Given the description of an element on the screen output the (x, y) to click on. 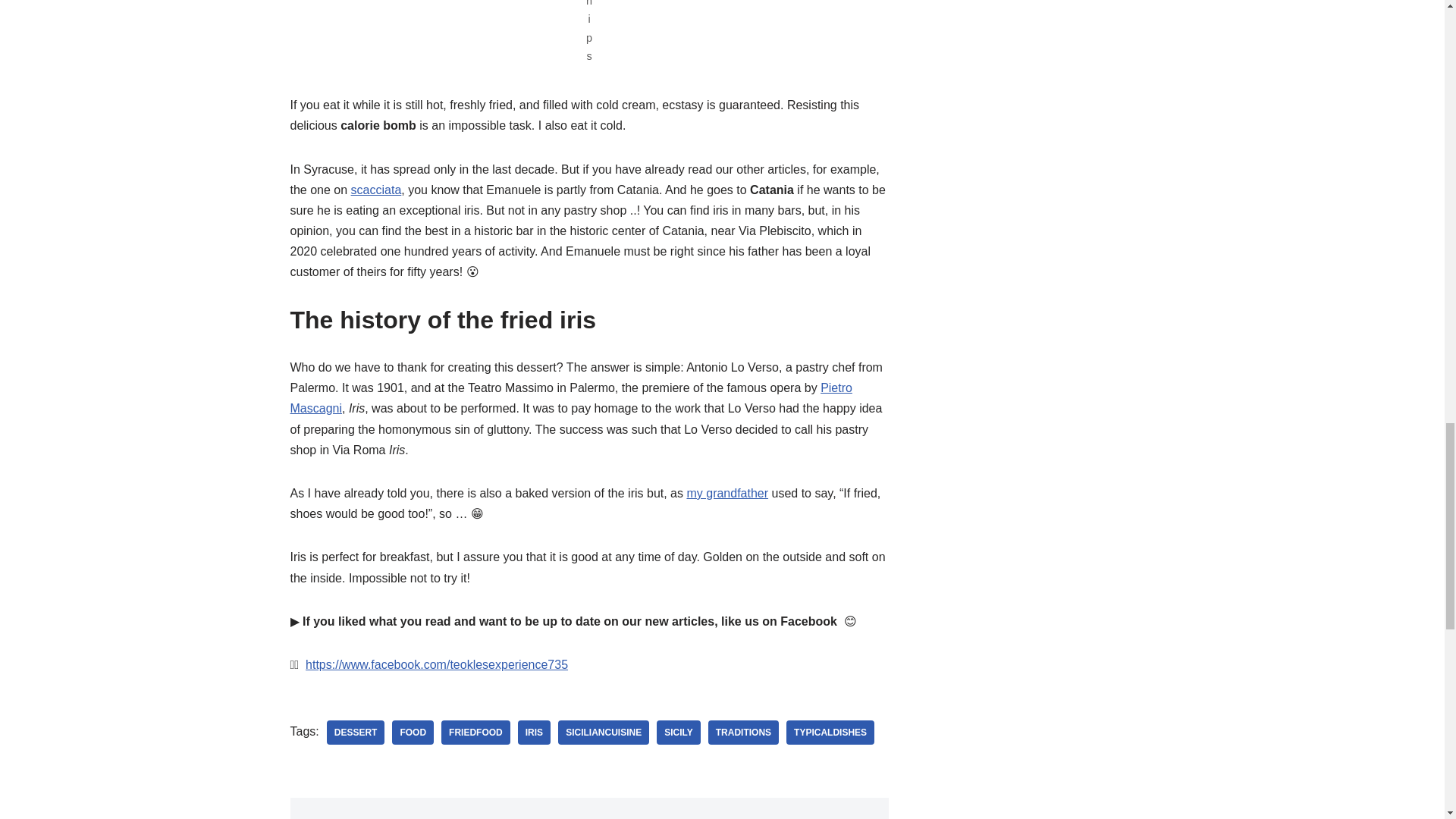
siciliancuisine (603, 732)
dessert (355, 732)
iris (534, 732)
sicily (678, 732)
friedfood (476, 732)
traditions (742, 732)
food (412, 732)
Pietro Mascagni (570, 397)
scacciata (375, 189)
typicaldishes (830, 732)
